Given the description of an element on the screen output the (x, y) to click on. 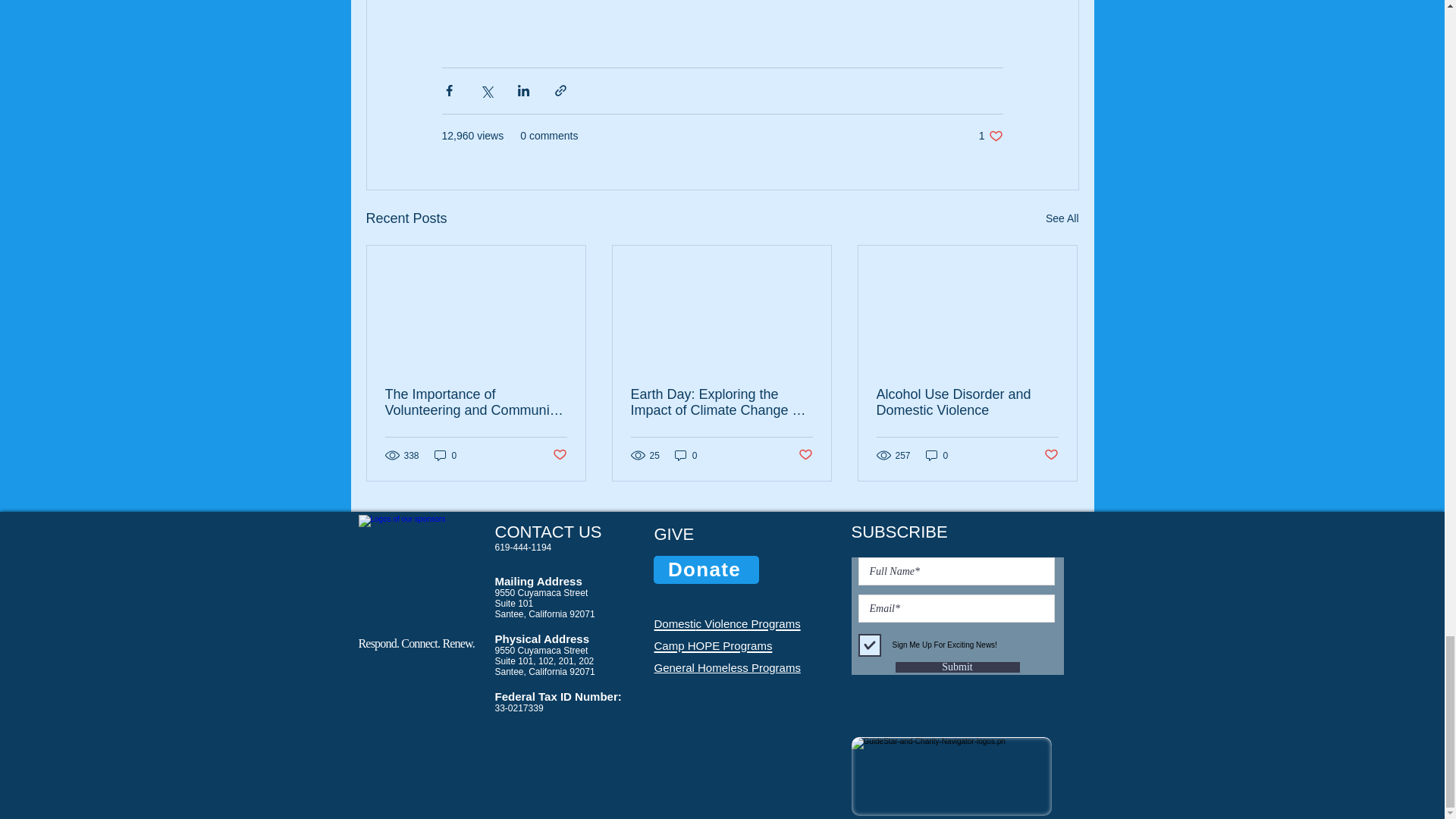
crisis-house.png (414, 569)
